Given the description of an element on the screen output the (x, y) to click on. 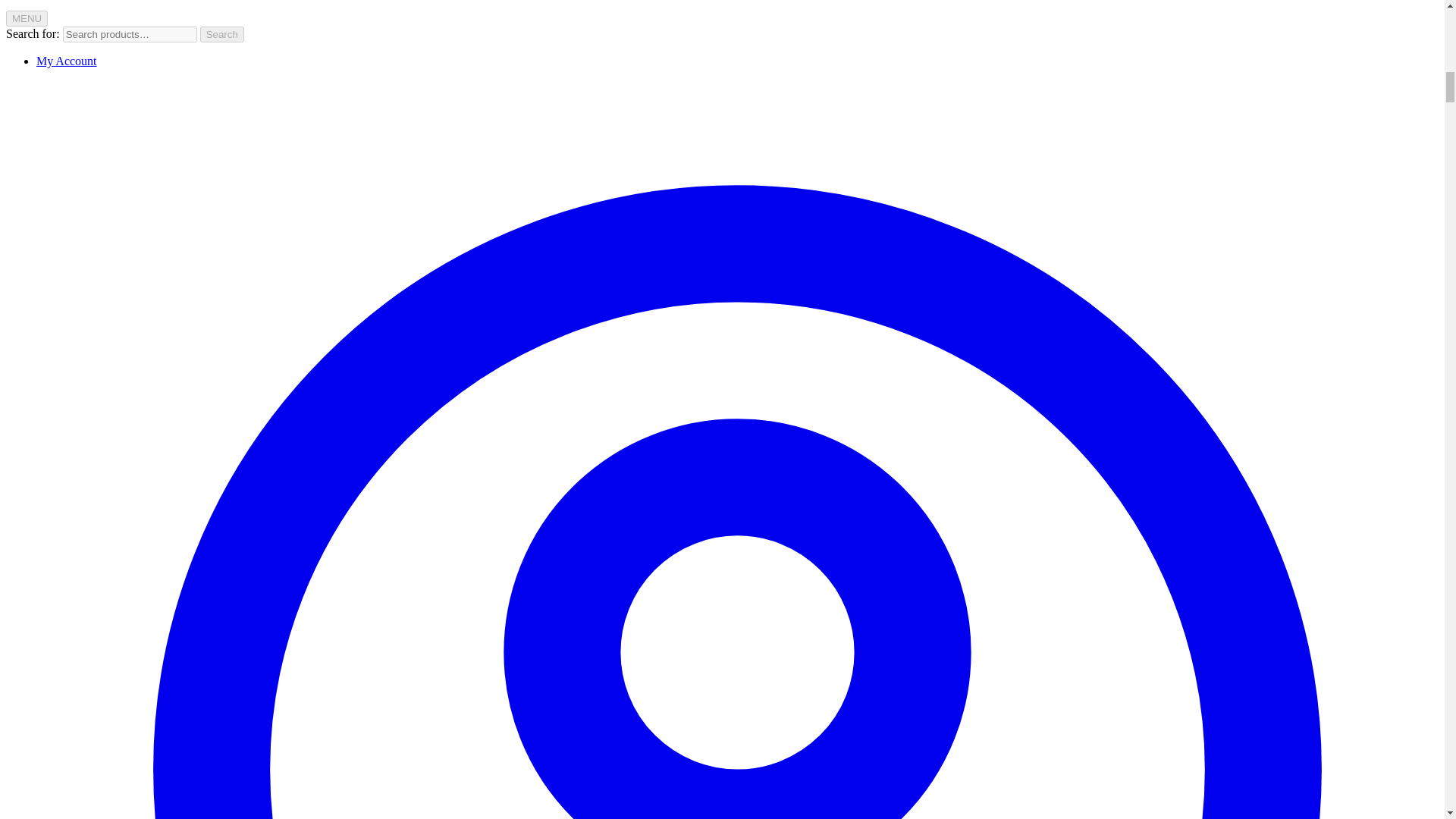
Search (222, 34)
MENU (26, 18)
